Given the description of an element on the screen output the (x, y) to click on. 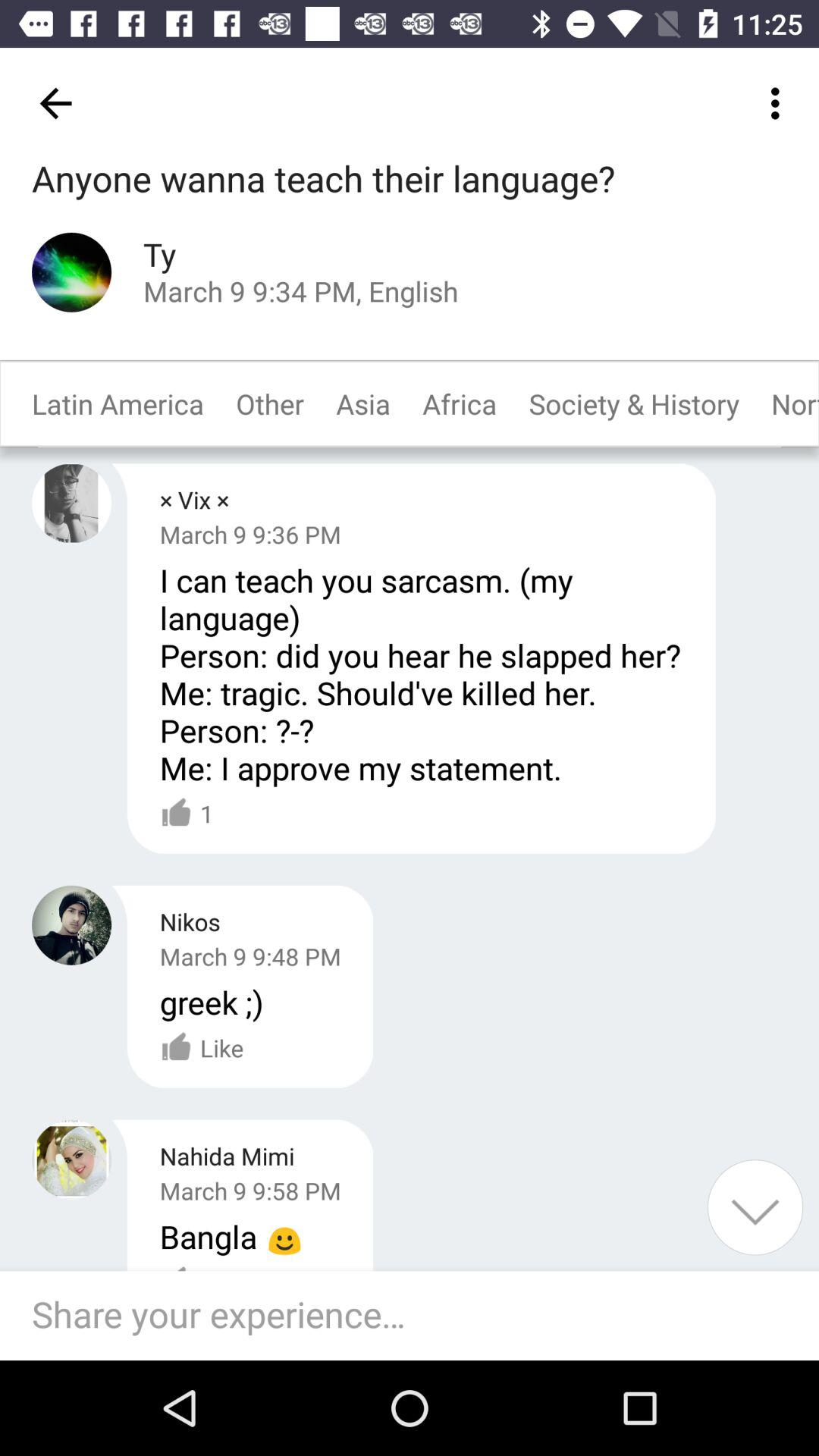
launch the icon below like (417, 1315)
